Given the description of an element on the screen output the (x, y) to click on. 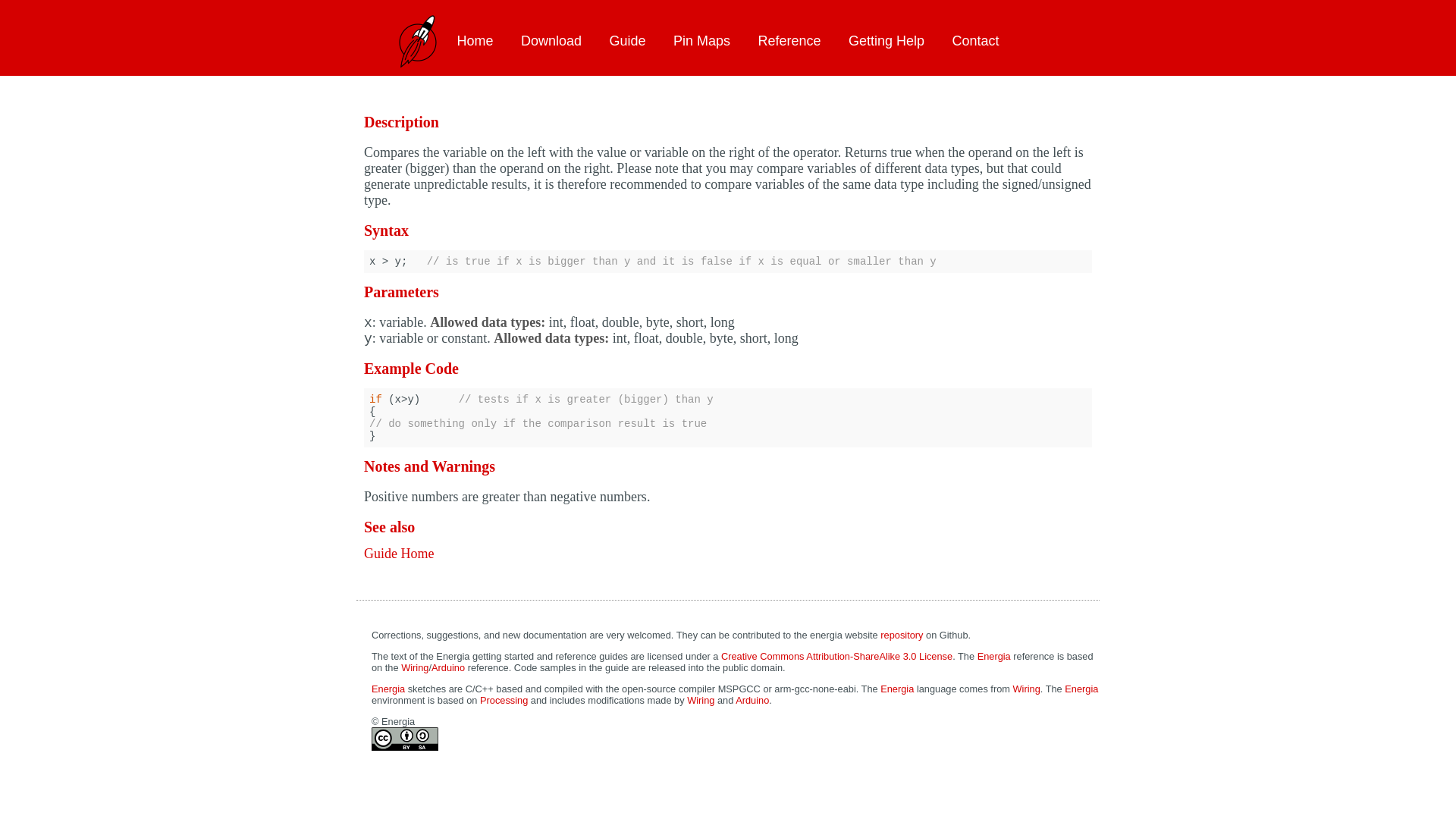
Creative Commons Attribution-ShareAlike 3.0 License (836, 655)
Getting Help (886, 40)
Arduino (447, 667)
Wiring (700, 699)
Energia (897, 688)
Energia (387, 688)
Contact (975, 40)
Guide Home (398, 553)
Reference (789, 40)
Wiring (1027, 688)
Wiring (414, 667)
Energia (1080, 688)
Energia (993, 655)
Pin Maps (701, 40)
Arduino (751, 699)
